Given the description of an element on the screen output the (x, y) to click on. 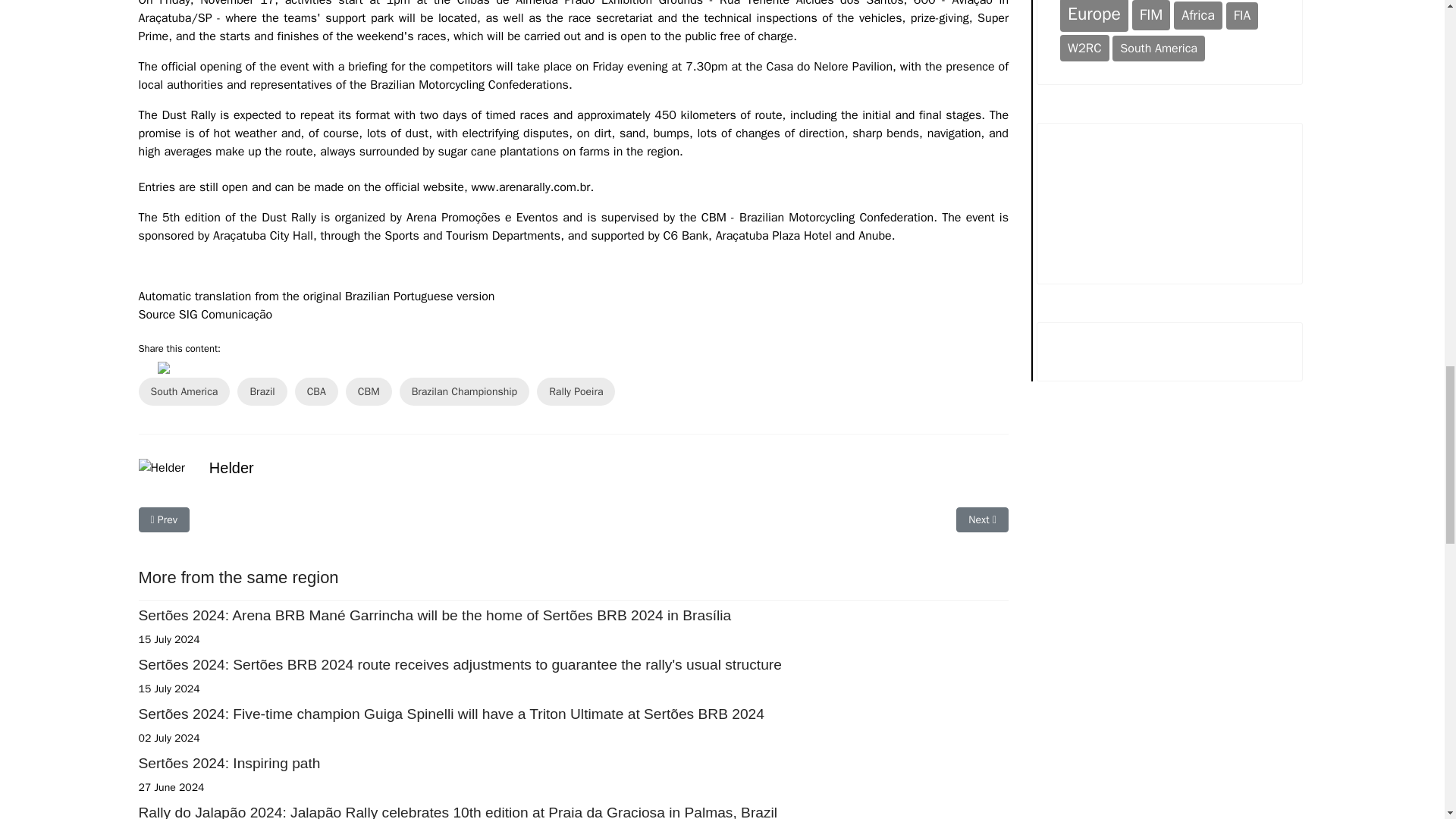
CBM (368, 391)
Brazil (261, 391)
Published: 02 July 2024 (168, 738)
Published: 15 July 2024 (168, 688)
South America (184, 391)
Published: 15 July 2024 (168, 639)
CBA (316, 391)
Published: 27 June 2024 (170, 787)
